Given the description of an element on the screen output the (x, y) to click on. 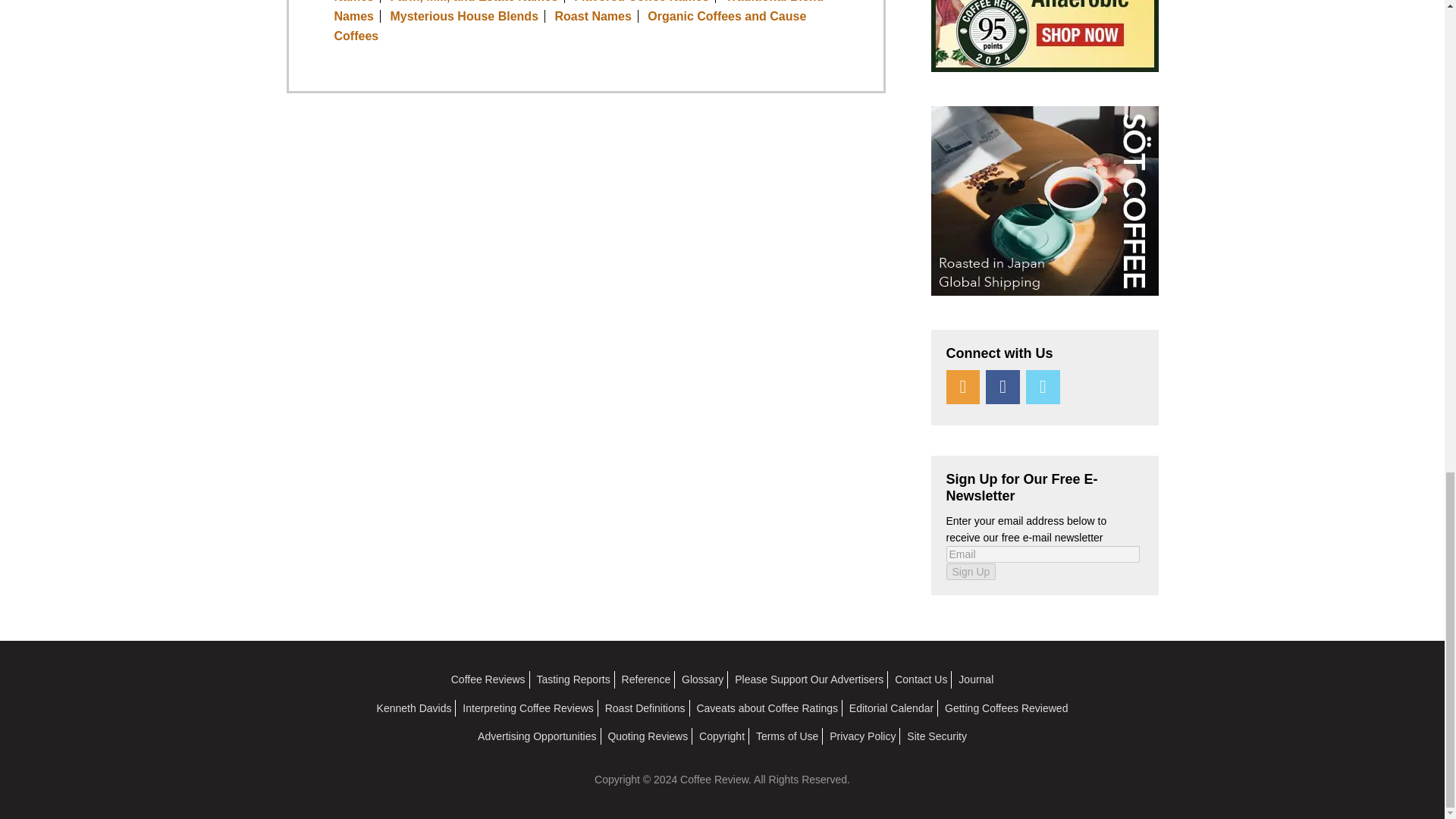
Facebook (1002, 387)
Twitter (1042, 387)
RSS (962, 387)
Sign Up (970, 571)
